Given the description of an element on the screen output the (x, y) to click on. 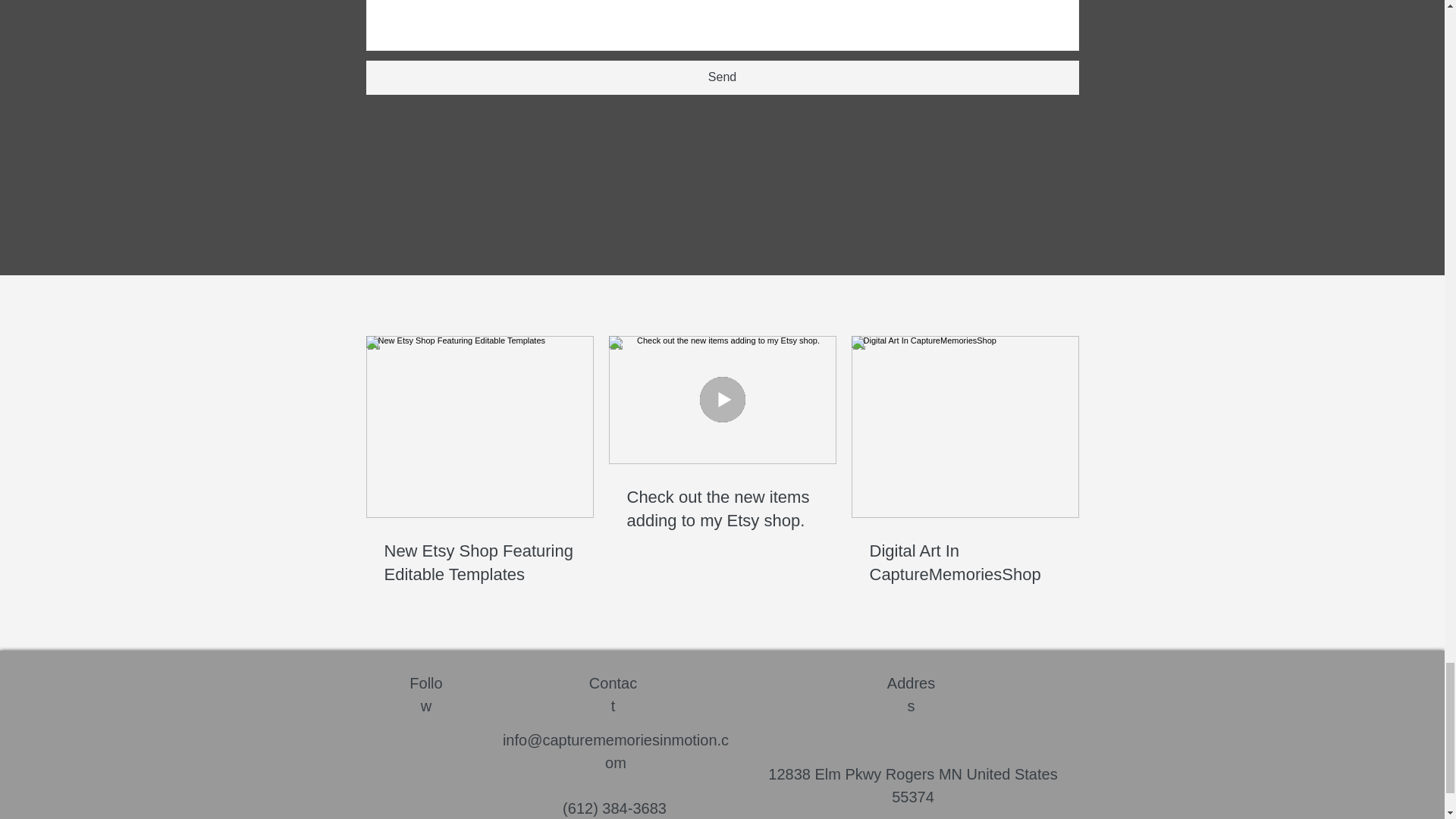
New Etsy Shop Featuring Editable Templates (479, 563)
Send (721, 77)
Check out the new items adding to my Etsy shop. (721, 509)
Digital Art In CaptureMemoriesShop (964, 563)
